Given the description of an element on the screen output the (x, y) to click on. 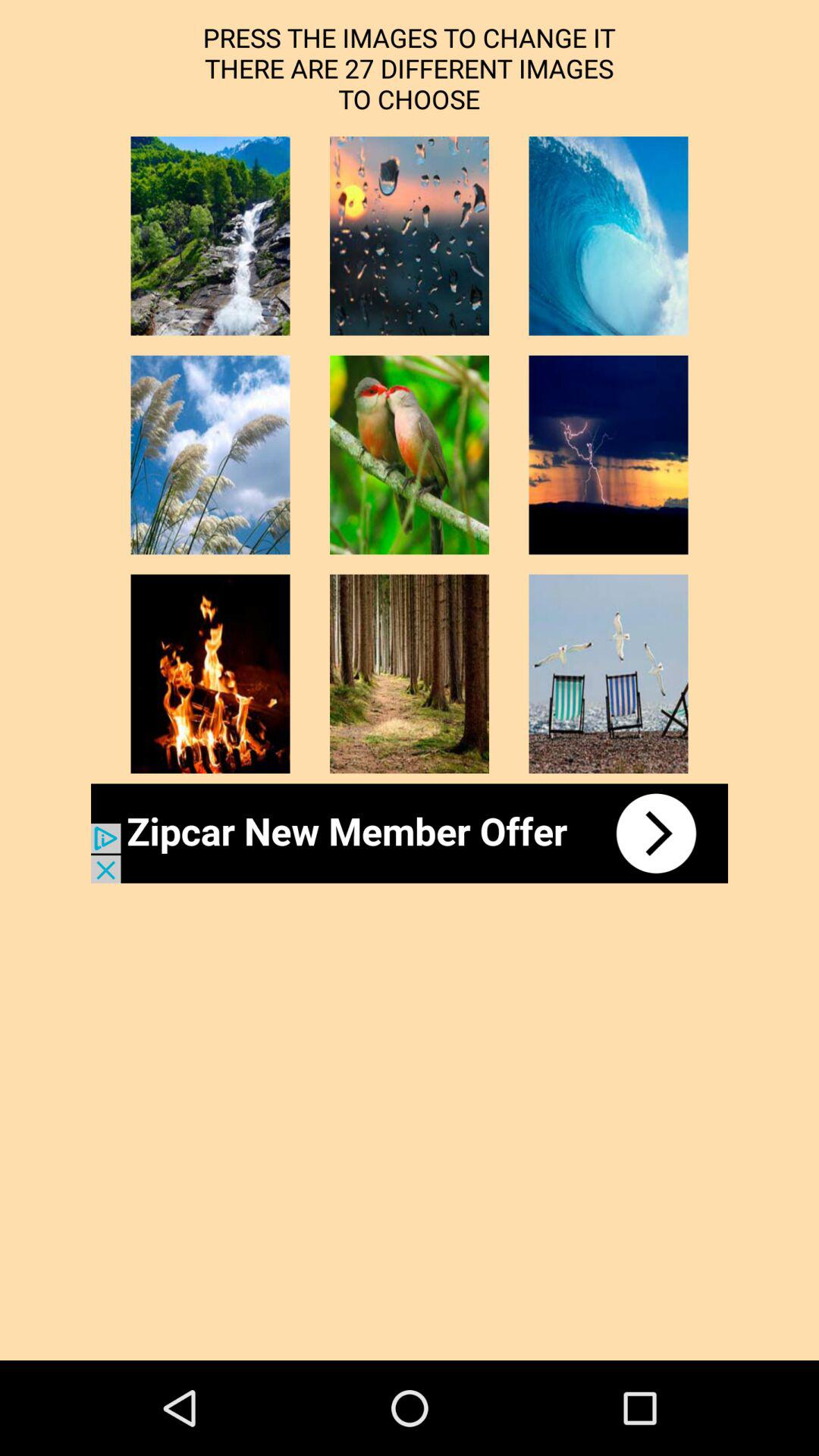
choose options (210, 673)
